Given the description of an element on the screen output the (x, y) to click on. 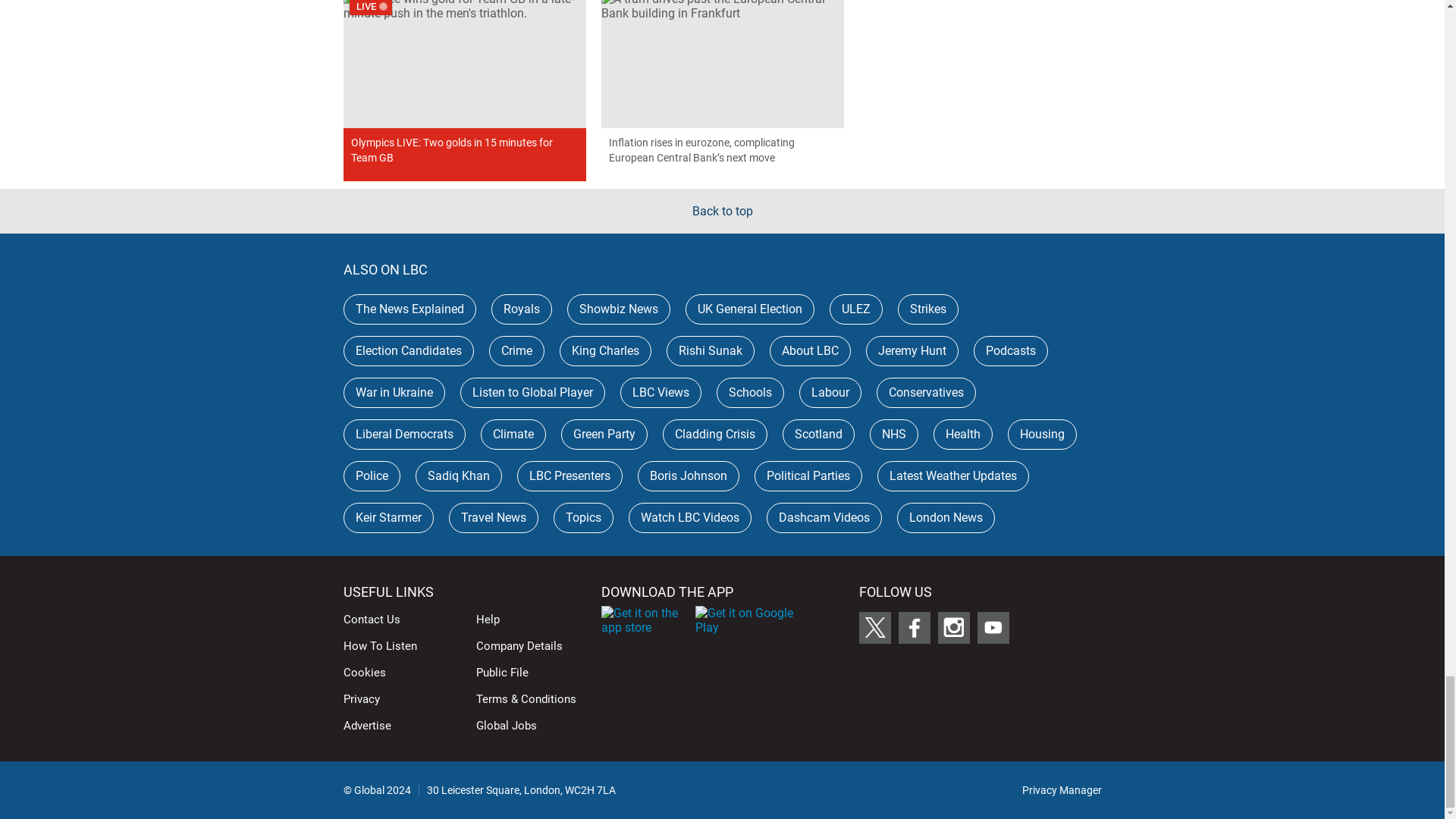
Back to top (721, 210)
Follow LBC on Instagram (953, 627)
Follow LBC on Facebook (914, 627)
Follow LBC on X (874, 627)
Follow LBC on Youtube (992, 627)
